Given the description of an element on the screen output the (x, y) to click on. 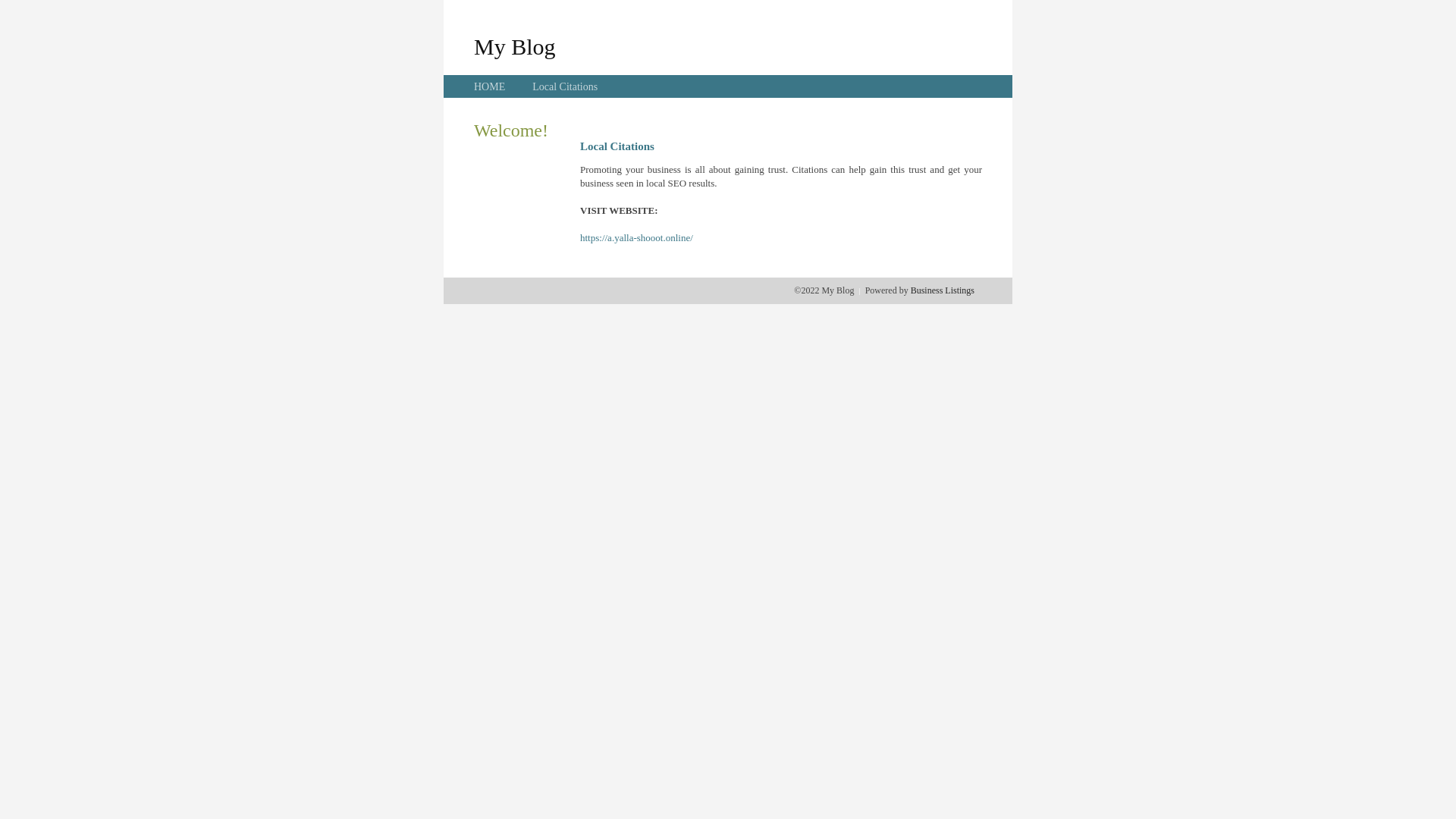
My Blog Element type: text (514, 46)
Local Citations Element type: text (564, 86)
Business Listings Element type: text (942, 290)
https://a.yalla-shooot.online/ Element type: text (636, 237)
HOME Element type: text (489, 86)
